Given the description of an element on the screen output the (x, y) to click on. 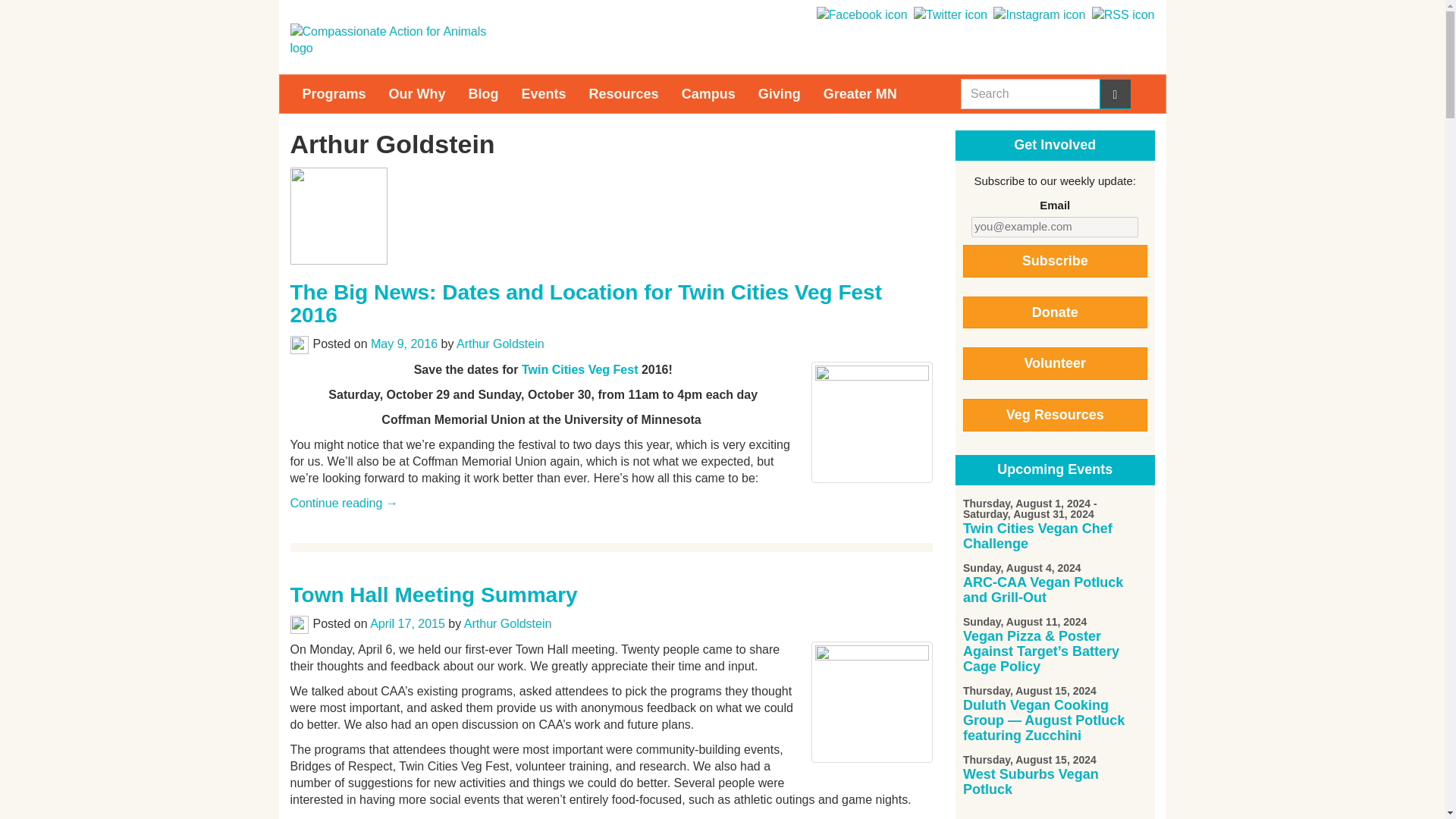
Arthur Goldstein (500, 343)
View all posts by Arthur Goldstein (507, 623)
Events (544, 94)
1:51 pm (404, 343)
Giving (779, 94)
Twin Cities Veg Fest (580, 369)
Town Hall Meeting Summary (432, 594)
Follow us on Facebook (860, 13)
